Given the description of an element on the screen output the (x, y) to click on. 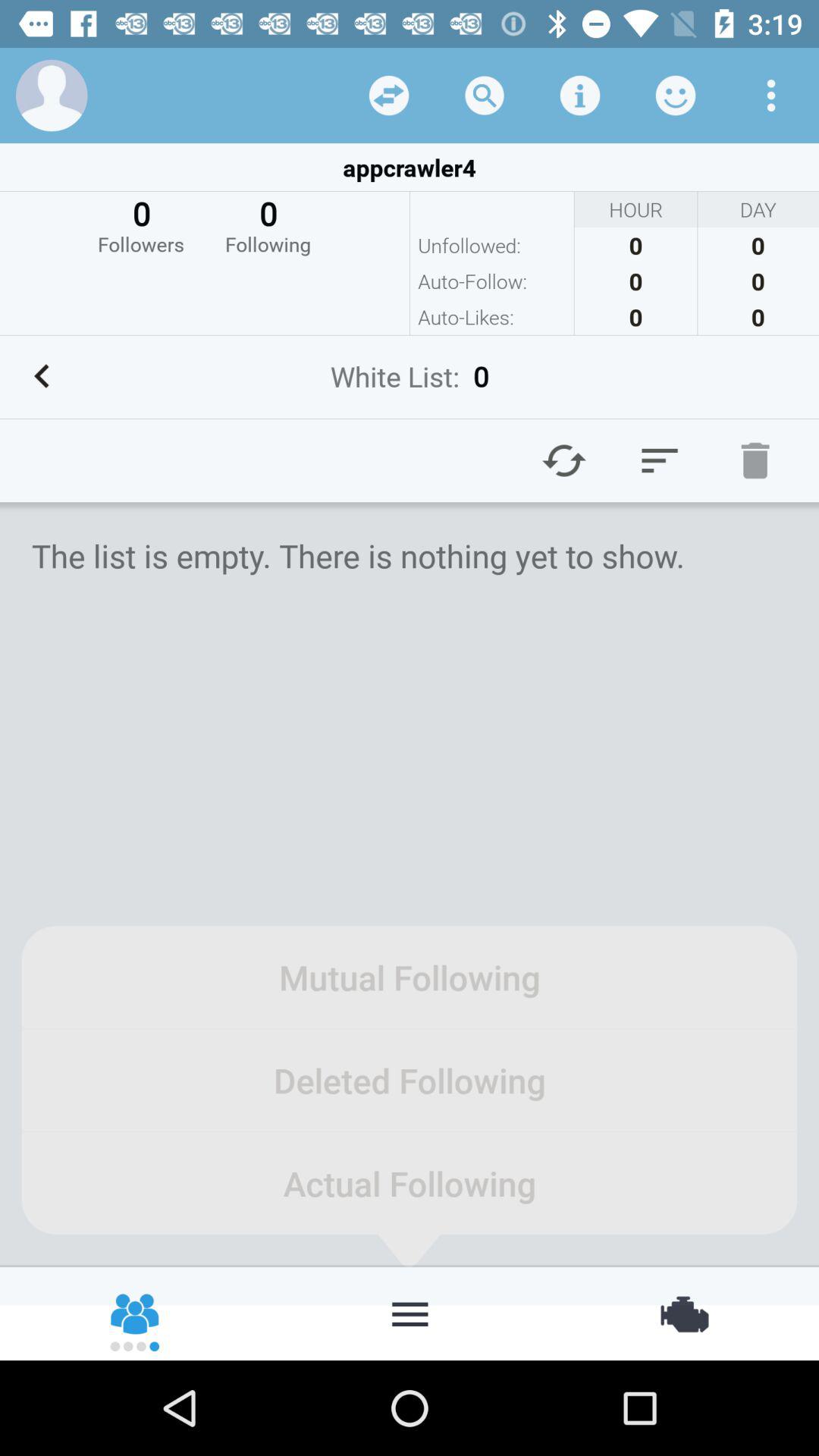
backwart (41, 376)
